Given the description of an element on the screen output the (x, y) to click on. 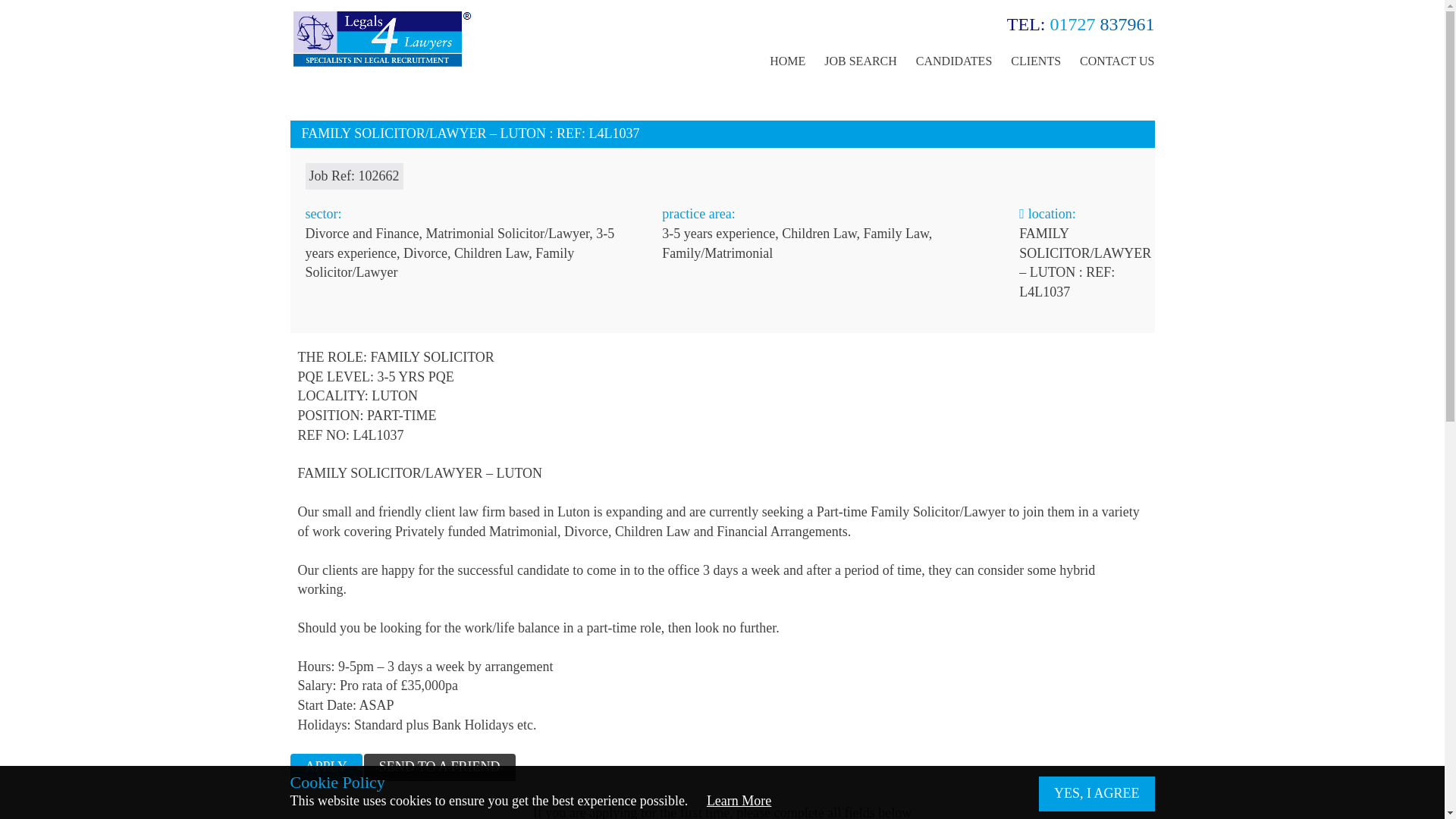
SEND TO A FRIEND (439, 767)
CLIENTS (1035, 60)
YES, I AGREE (1096, 793)
APPLY (325, 767)
CANDIDATES (953, 60)
CONTACT US (1117, 60)
Learn More (738, 800)
JOB SEARCH (860, 60)
HOME (787, 60)
